Given the description of an element on the screen output the (x, y) to click on. 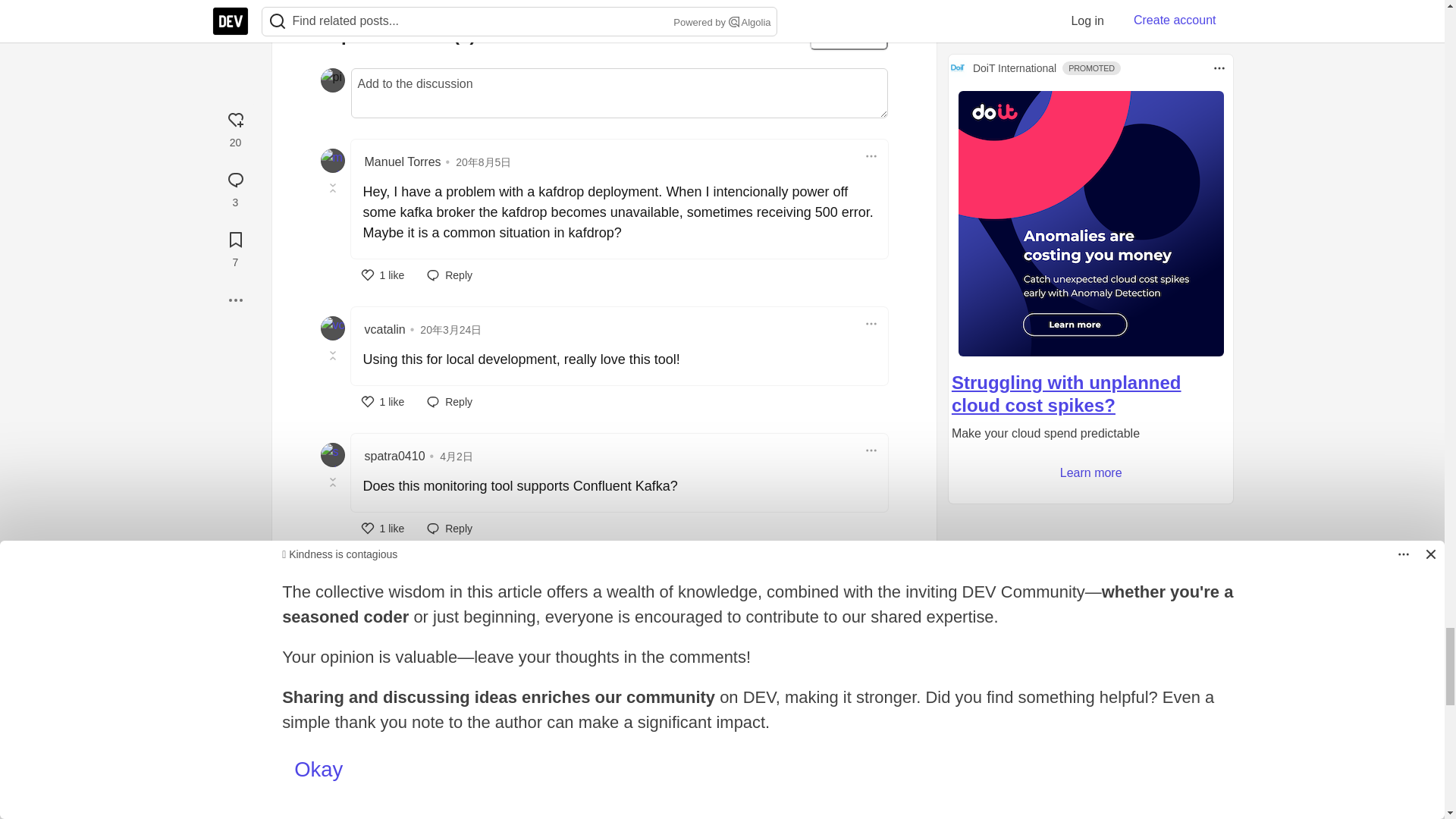
Dropdown menu (922, 626)
Dropdown menu (870, 156)
Dropdown menu (870, 450)
Dropdown menu (870, 323)
